Given the description of an element on the screen output the (x, y) to click on. 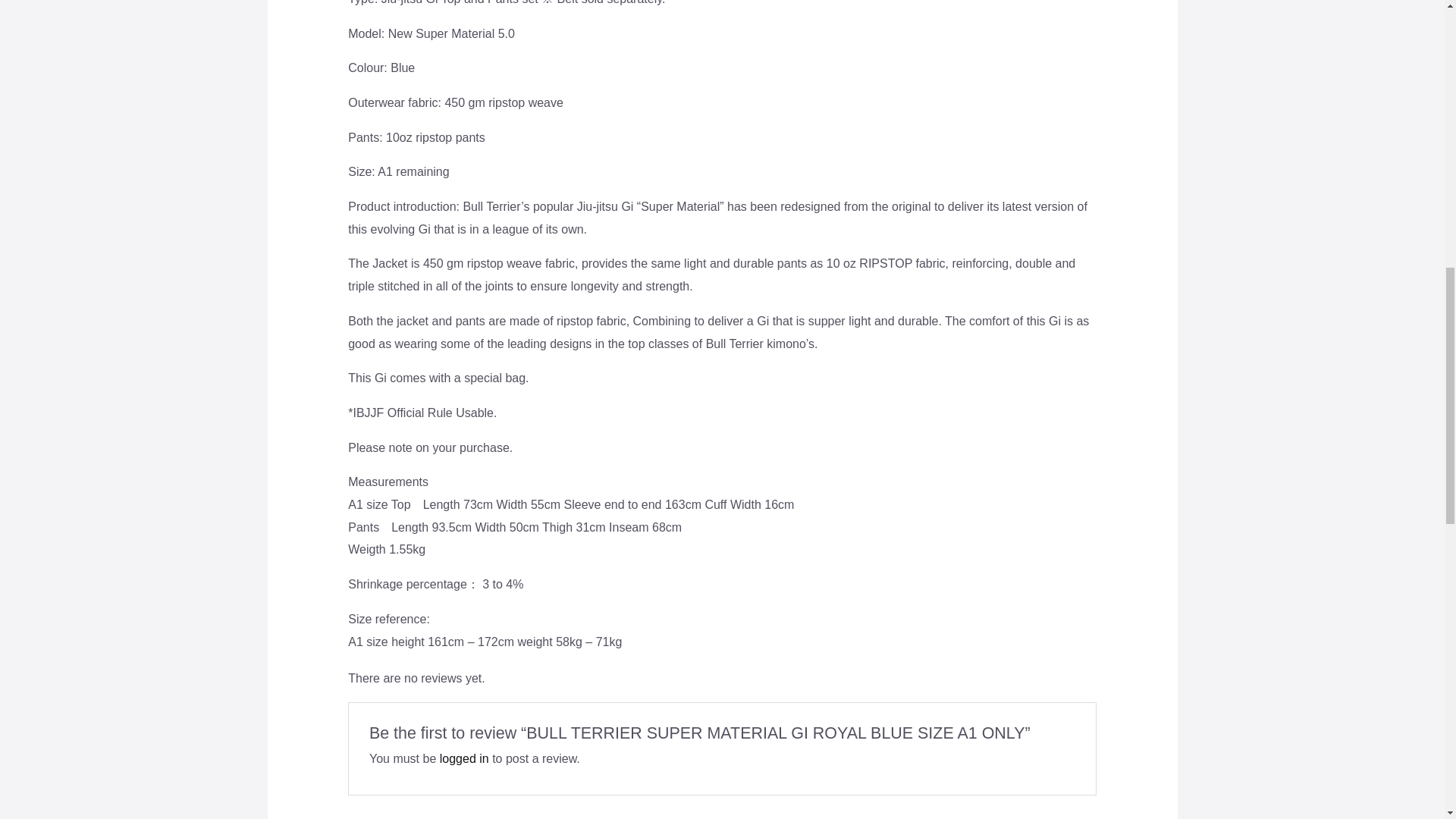
logged in (464, 758)
